Given the description of an element on the screen output the (x, y) to click on. 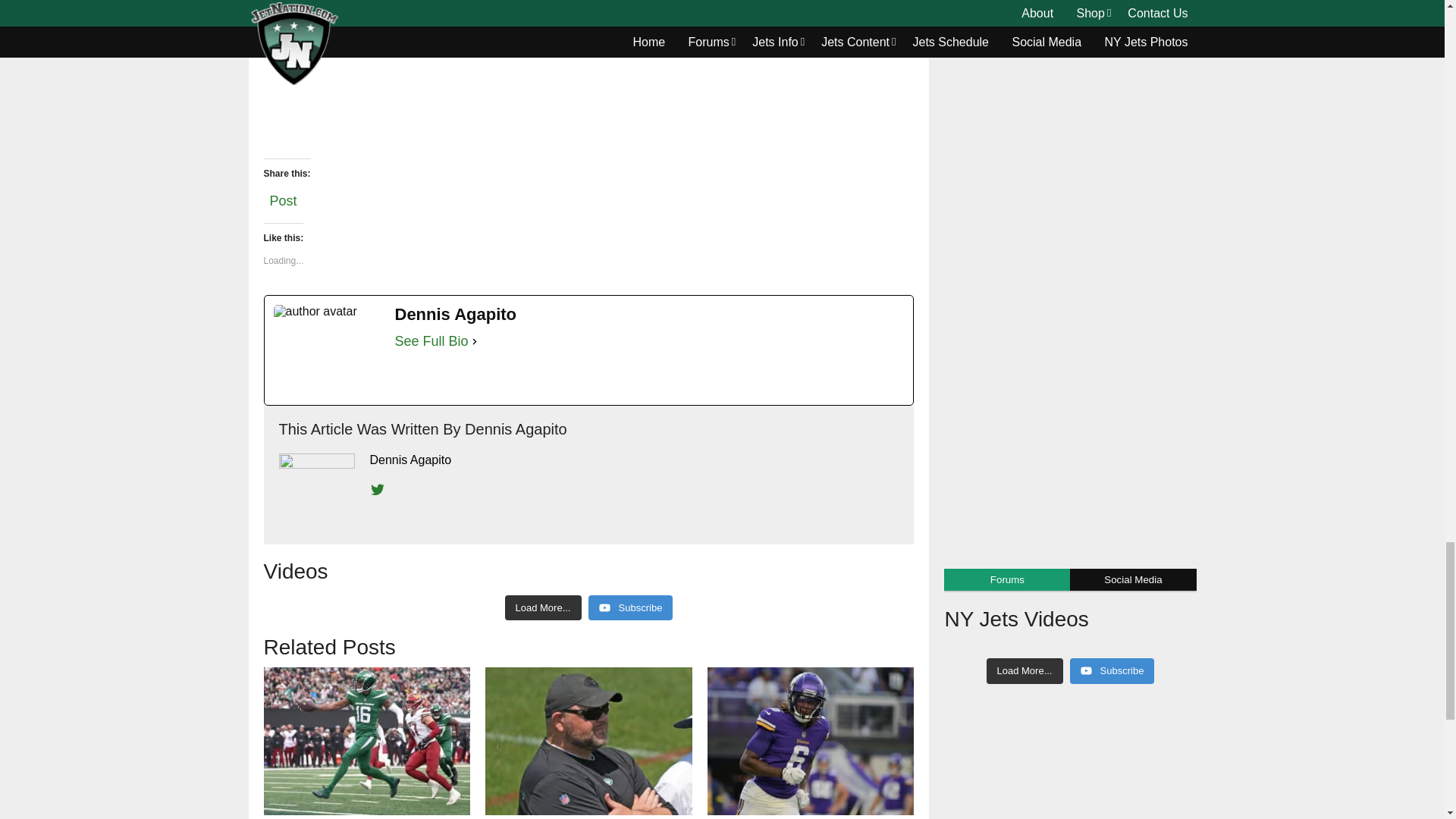
Lewis Cine Backs out of Deal With Jets, now Headed to Bills (810, 740)
Joe Douglas Offers Details on Dire Haason Reddick Situation (588, 740)
Brownlee Back as Jets add Receiver to Practice Squad (366, 740)
